Given the description of an element on the screen output the (x, y) to click on. 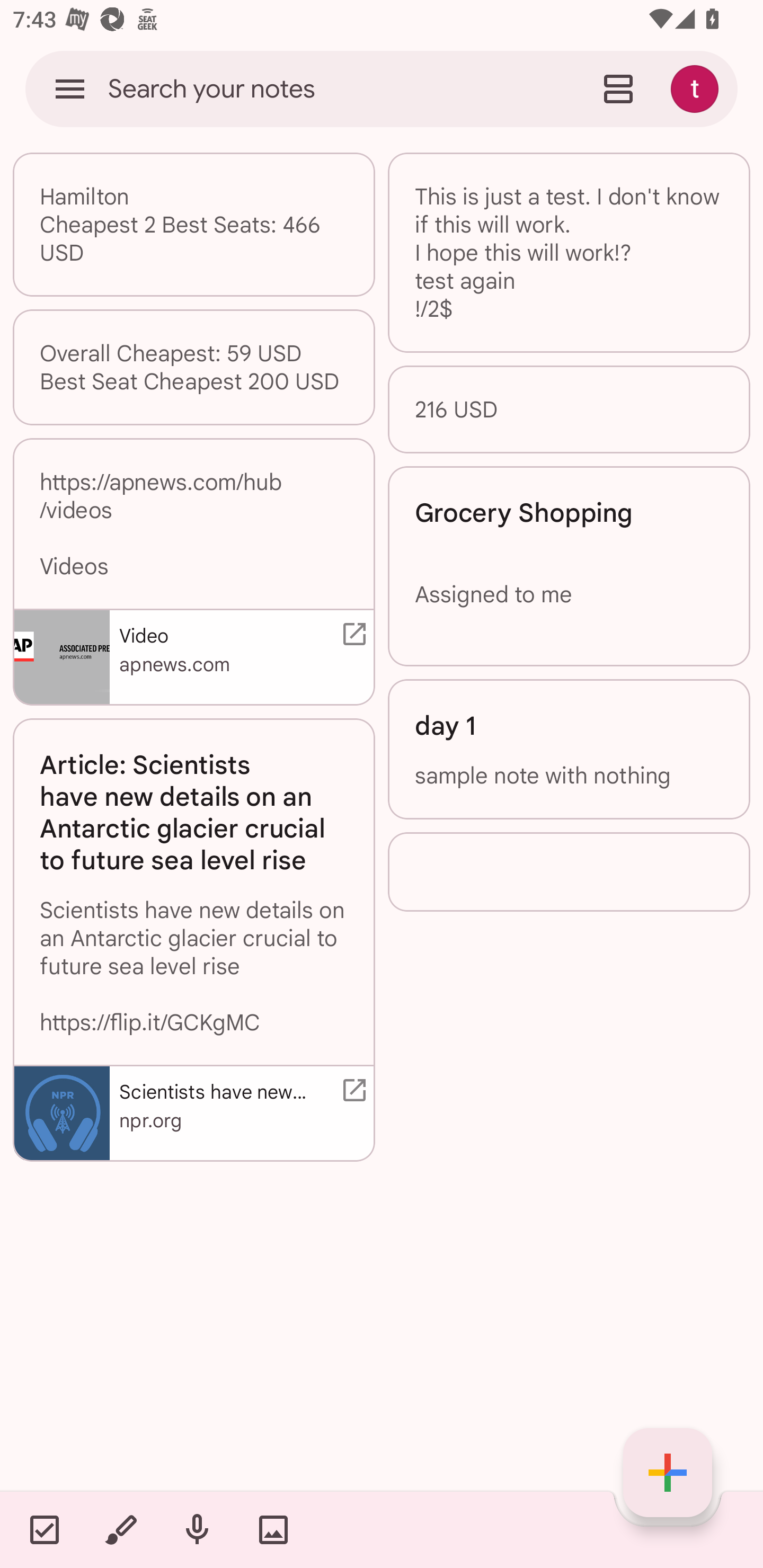
Open navigation drawer (70, 88)
Single-column view (617, 88)
Account and settings. (696, 88)
216 USD.  216 USD (568, 409)
Link preview popout (350, 634)
.  (568, 871)
Link preview popout (350, 1089)
New text note (667, 1472)
New list (44, 1529)
New drawing note (120, 1529)
New audio note (196, 1529)
New photo note (273, 1529)
